Given the description of an element on the screen output the (x, y) to click on. 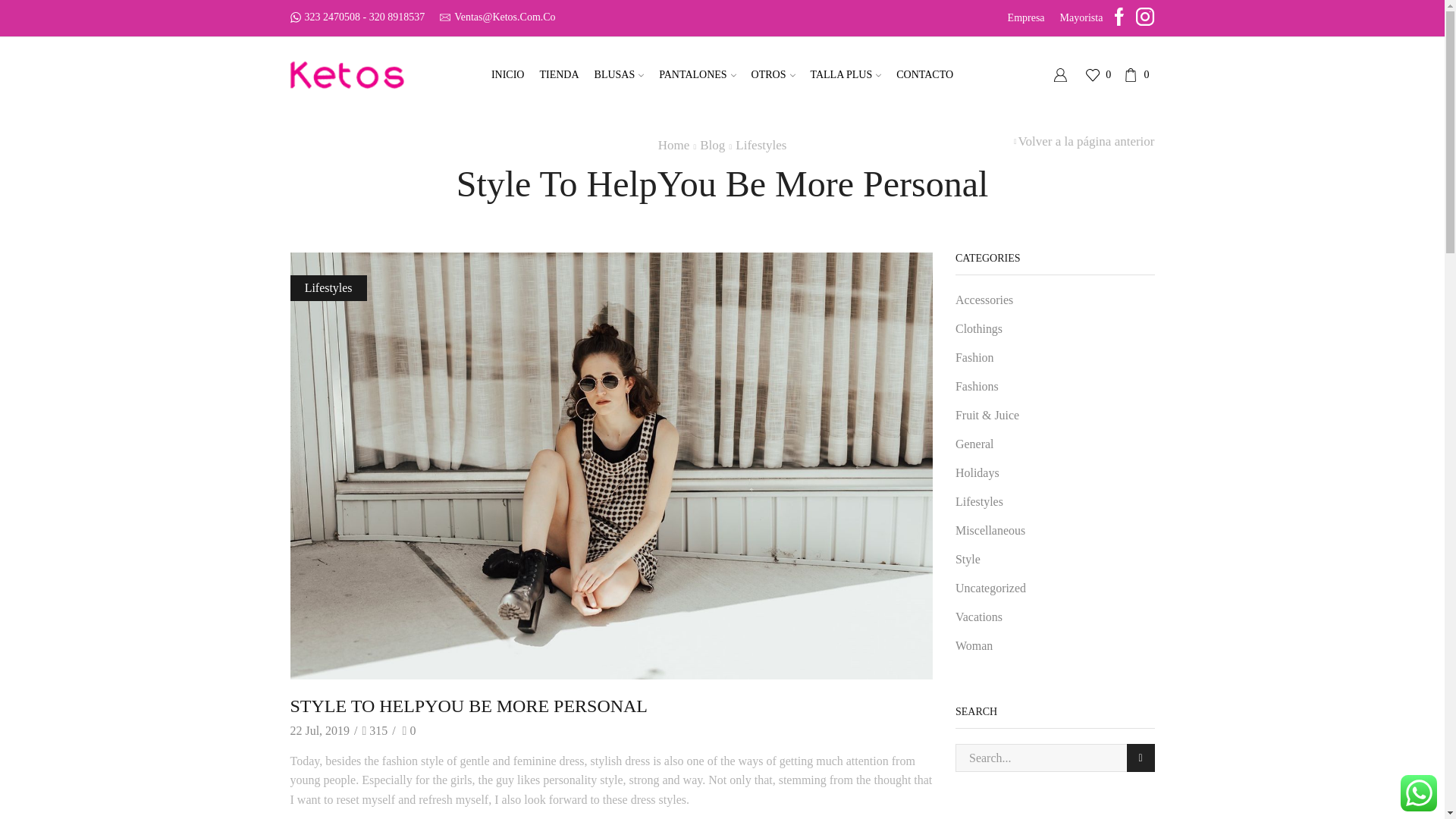
Mayorista (1081, 17)
CONTACTO (924, 75)
PANTALONES (696, 75)
TALLA PLUS (846, 75)
Empresa (1026, 17)
Log in (967, 311)
INICIO (507, 75)
TIENDA (558, 75)
BLUSAS (619, 75)
OTROS (773, 75)
